Given the description of an element on the screen output the (x, y) to click on. 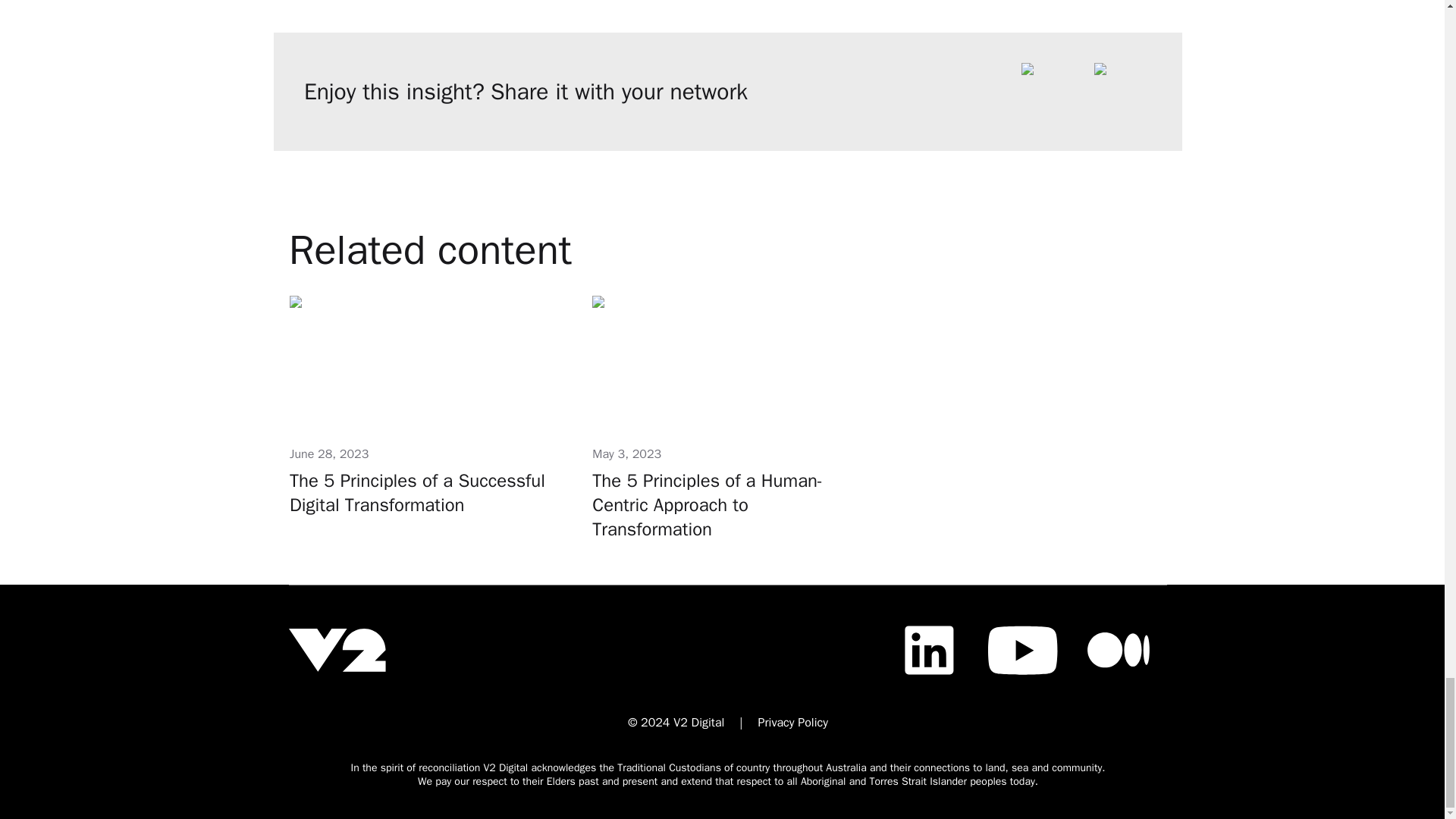
Privacy Policy (793, 722)
